Given the description of an element on the screen output the (x, y) to click on. 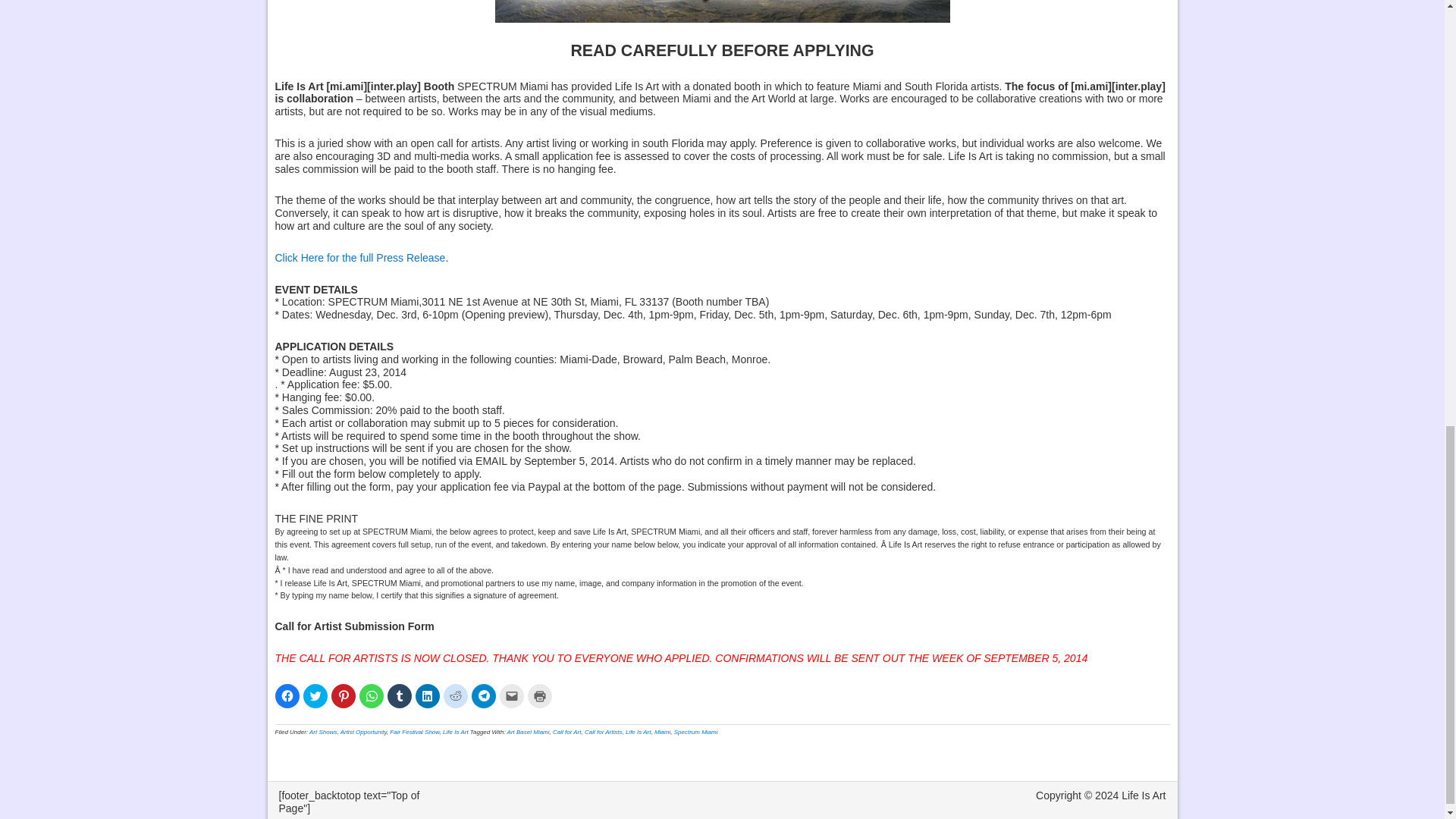
Click to email a link to a friend (510, 695)
Click to share on Facebook (286, 695)
Click Here for the full Press Release (360, 257)
Click to share on LinkedIn (426, 695)
Click to share on WhatsApp (371, 695)
Click to share on Twitter (314, 695)
Click to print (539, 695)
Click to share on Reddit (454, 695)
Click to share on Telegram (483, 695)
Click to share on Tumblr (398, 695)
